Given the description of an element on the screen output the (x, y) to click on. 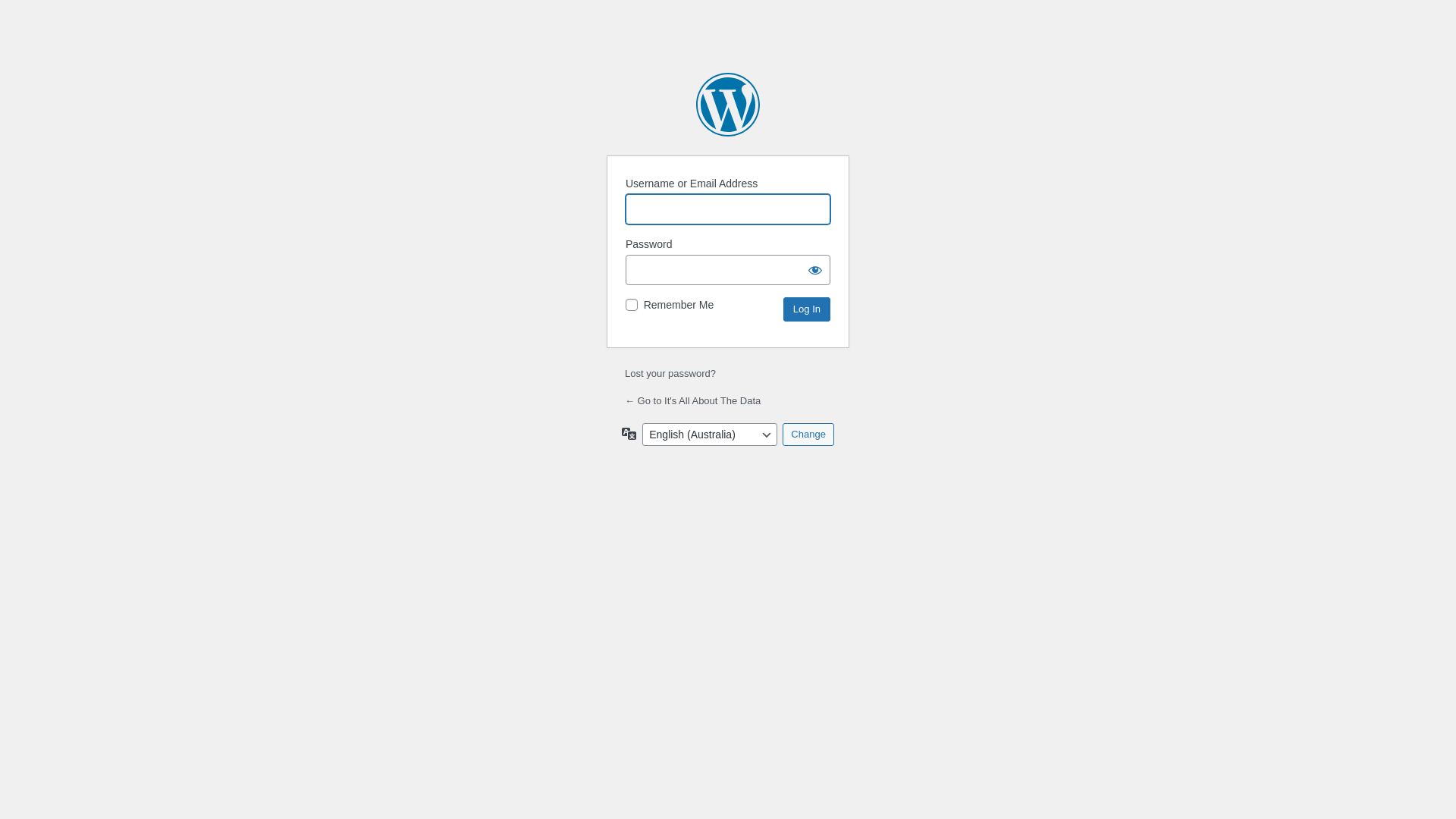
Lost your password? Element type: text (669, 373)
Powered by WordPress Element type: text (727, 104)
Log In Element type: text (806, 309)
Change Element type: text (808, 434)
